Given the description of an element on the screen output the (x, y) to click on. 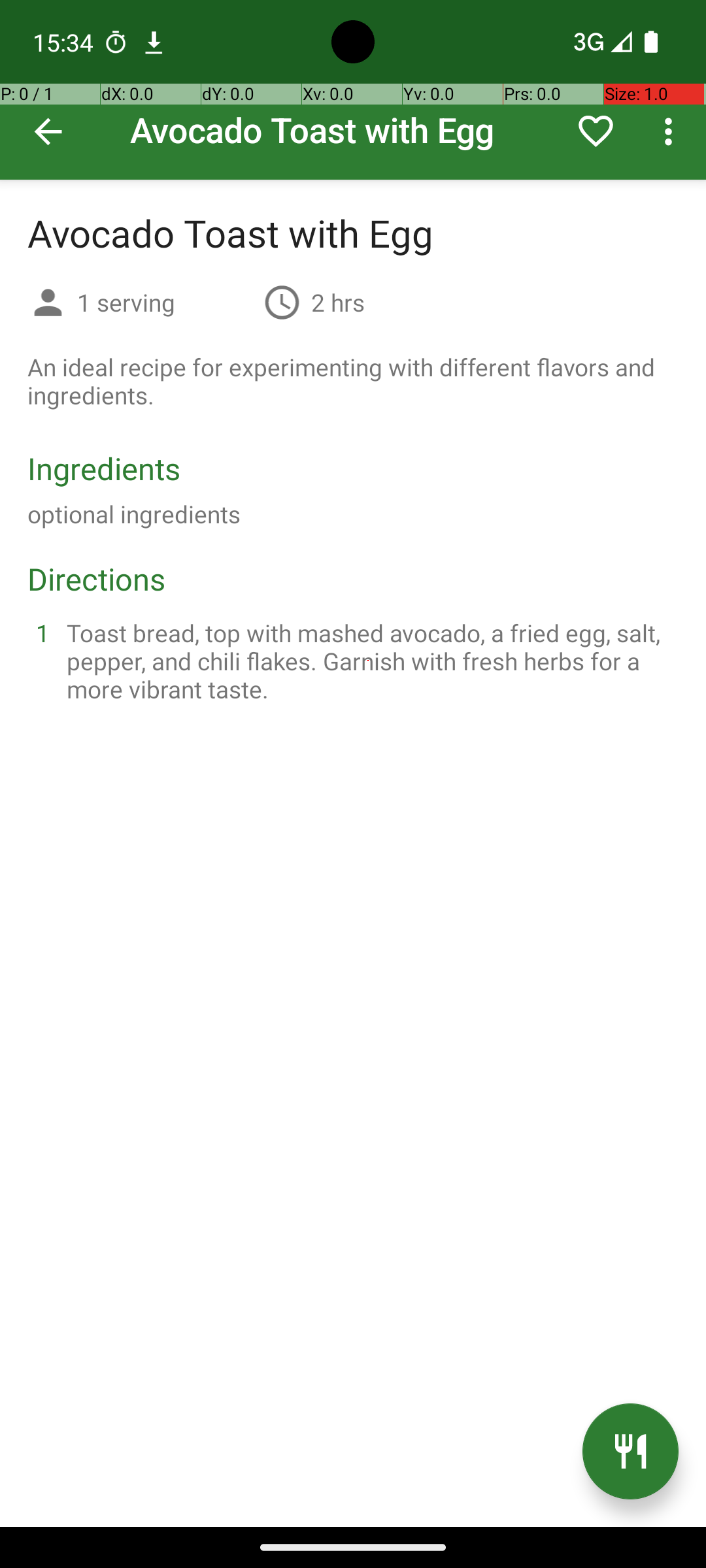
Toast bread, top with mashed avocado, a fried egg, salt, pepper, and chili flakes. Garnish with fresh herbs for a more vibrant taste. Element type: android.widget.TextView (368, 660)
